Given the description of an element on the screen output the (x, y) to click on. 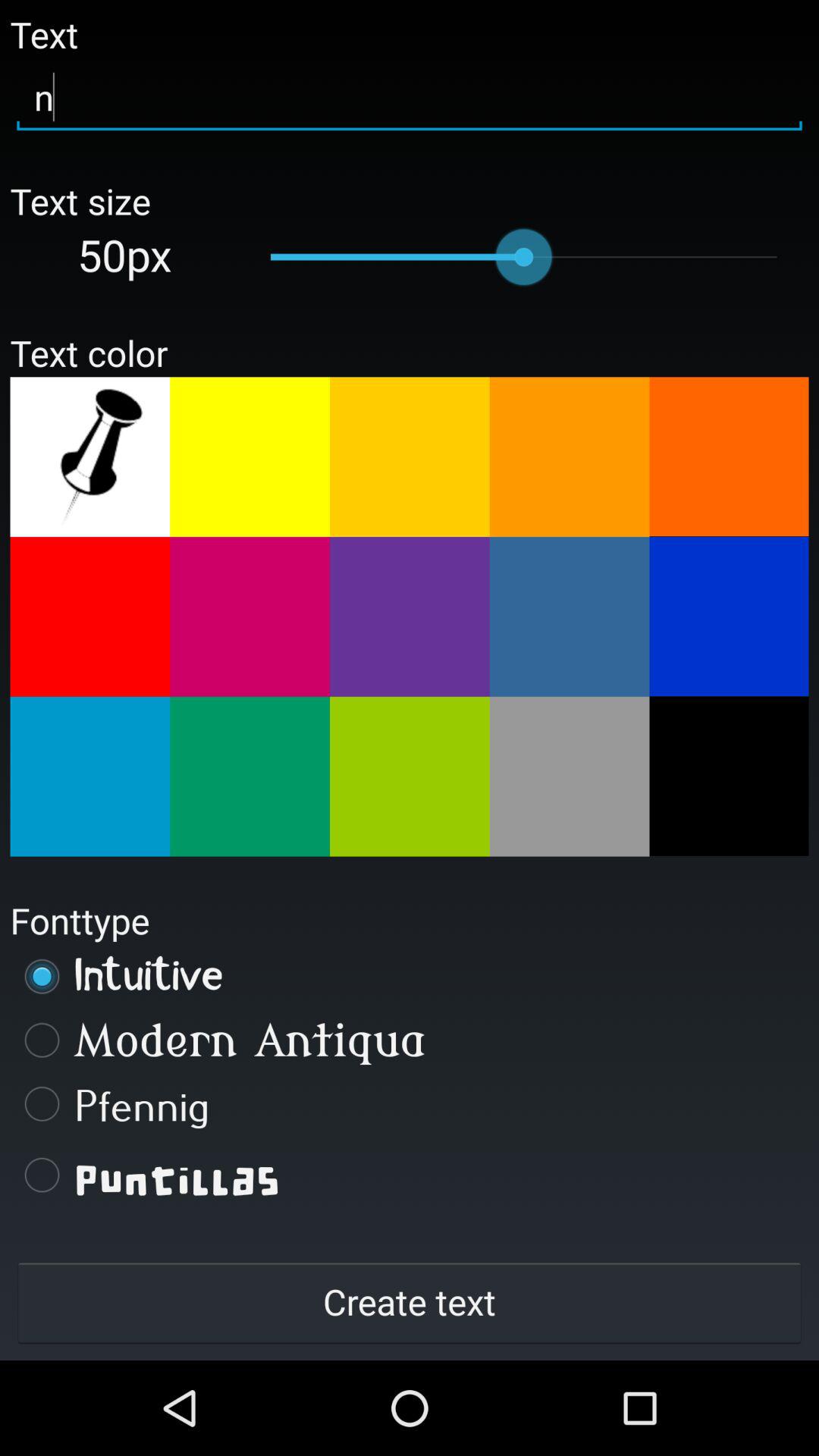
select color (409, 776)
